Given the description of an element on the screen output the (x, y) to click on. 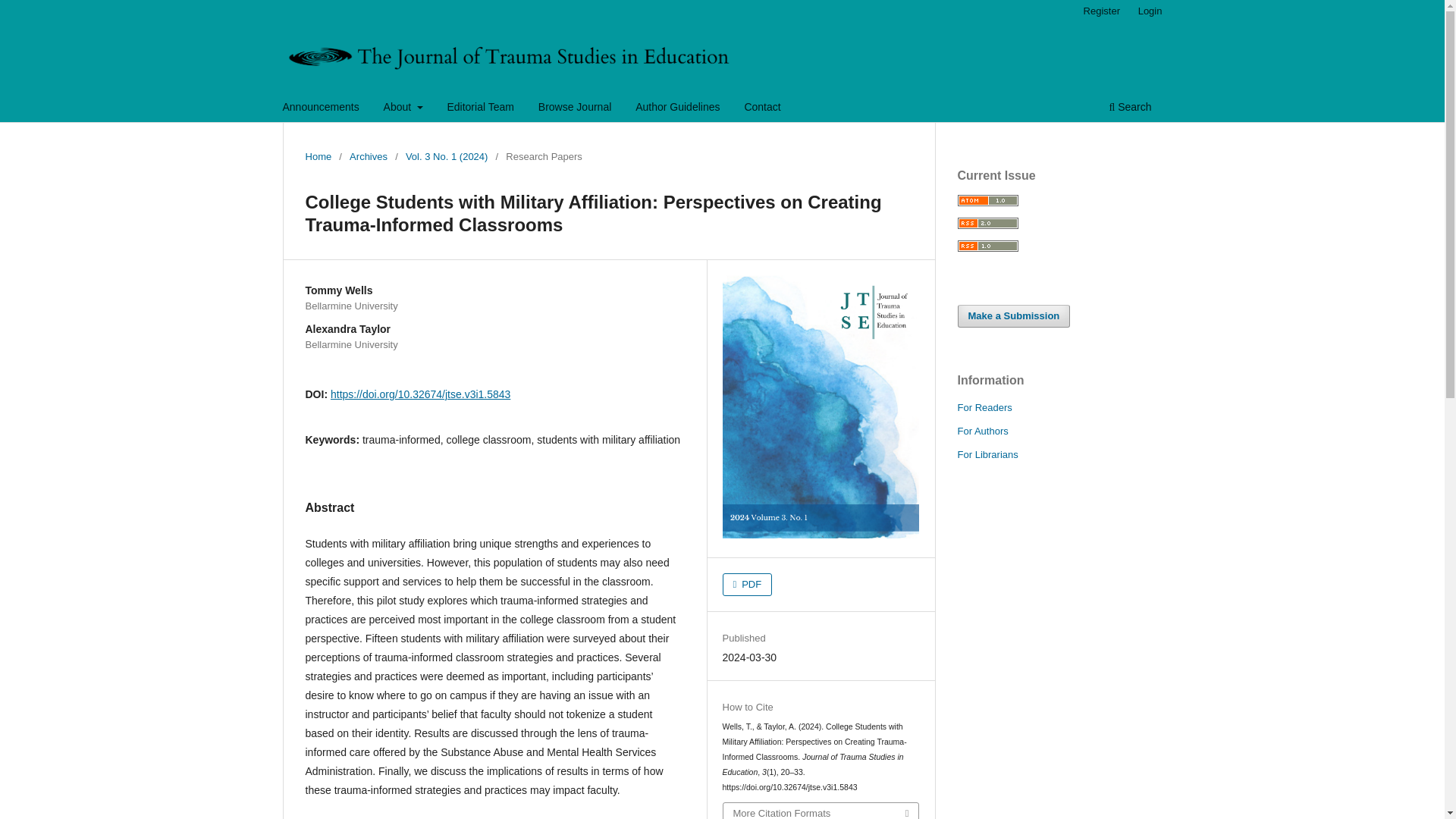
Editorial Team (479, 108)
Search (1129, 108)
Register (1100, 11)
Browse Journal (574, 108)
About (403, 108)
Announcements (321, 108)
Author Guidelines (677, 108)
Archives (368, 156)
PDF (747, 584)
Contact (762, 108)
More Citation Formats (820, 811)
Login (1150, 11)
Home (317, 156)
